Given the description of an element on the screen output the (x, y) to click on. 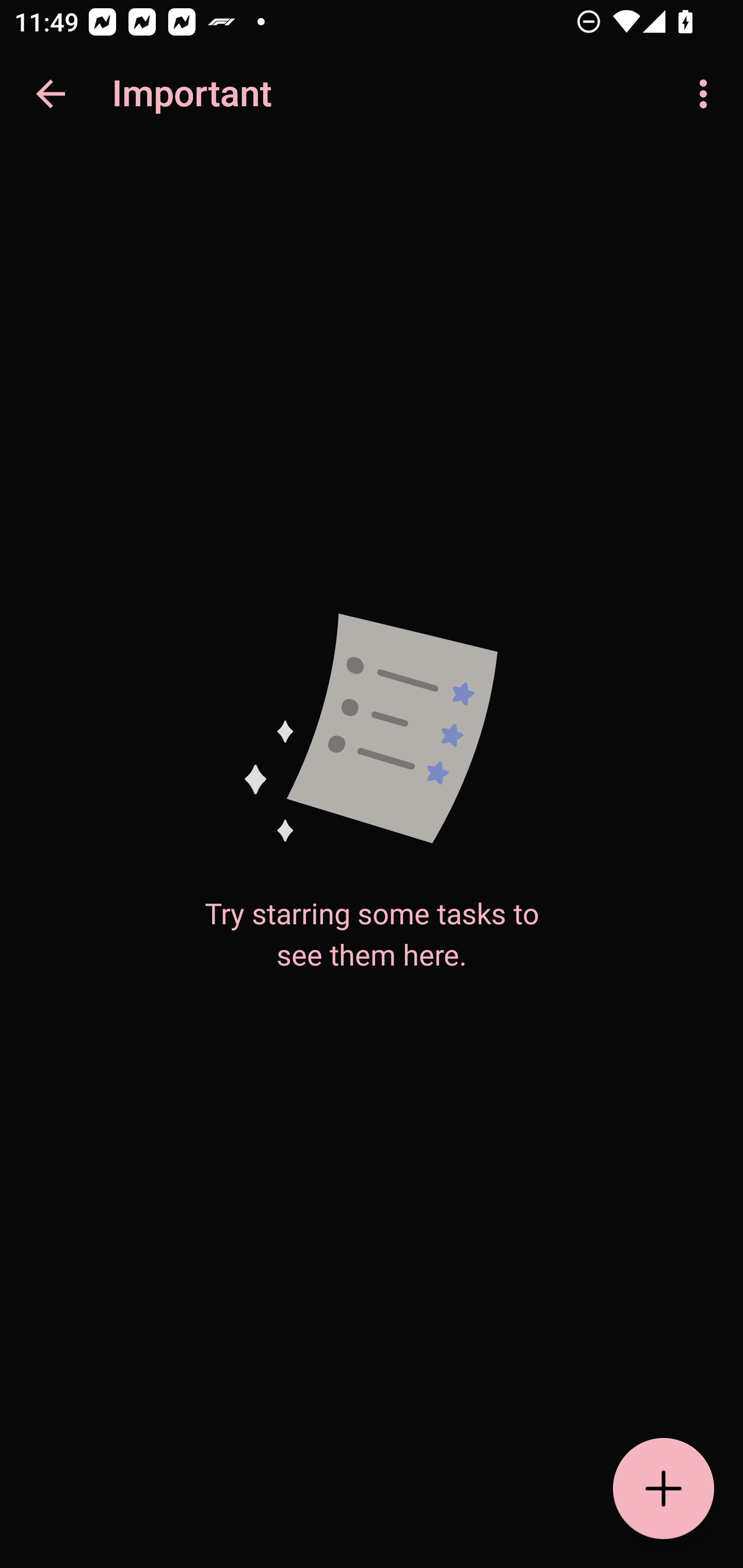
Back (50, 93)
More options (706, 93)
Add a task (663, 1488)
